Given the description of an element on the screen output the (x, y) to click on. 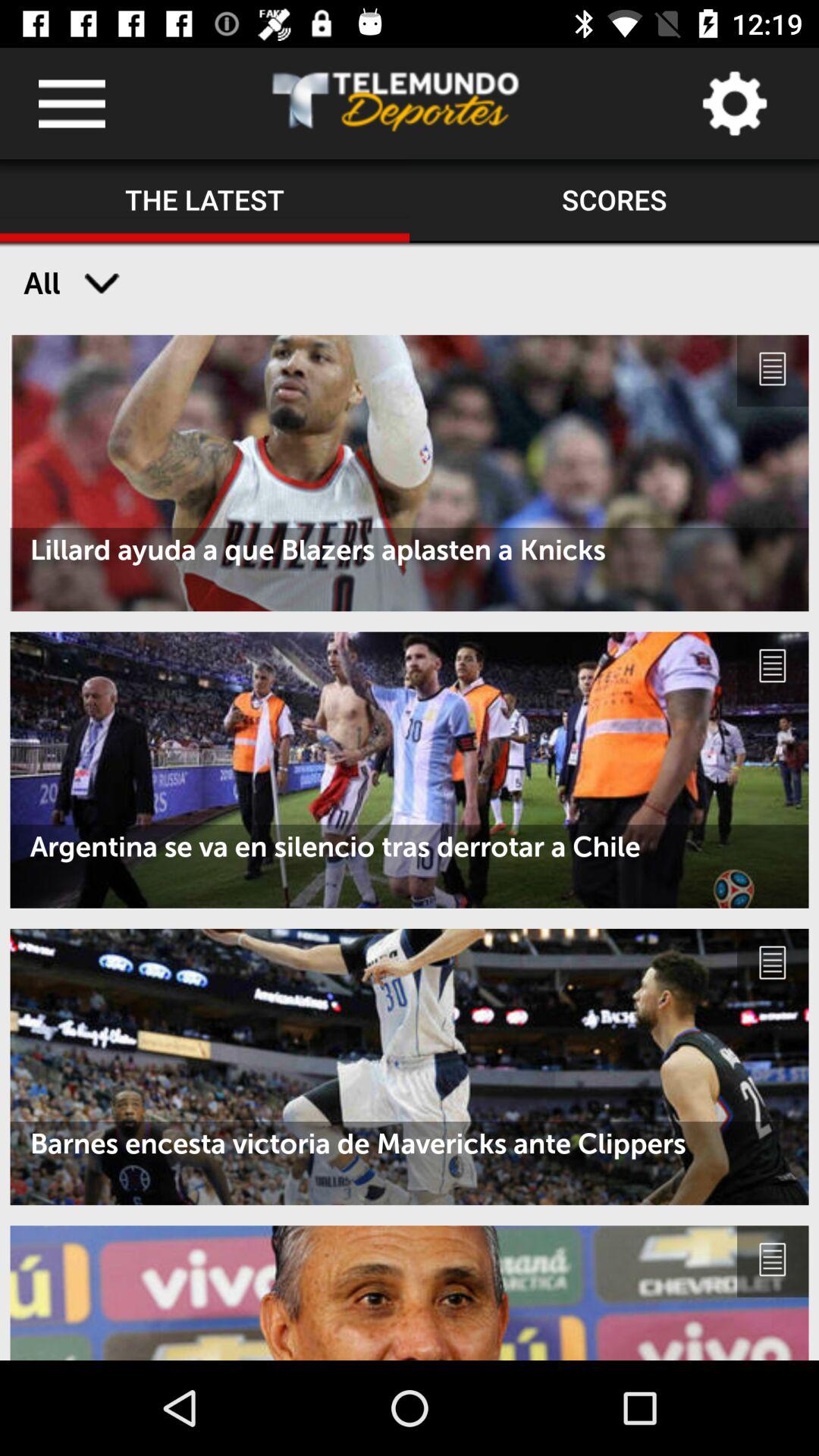
launch barnes encesta victoria icon (409, 1143)
